Given the description of an element on the screen output the (x, y) to click on. 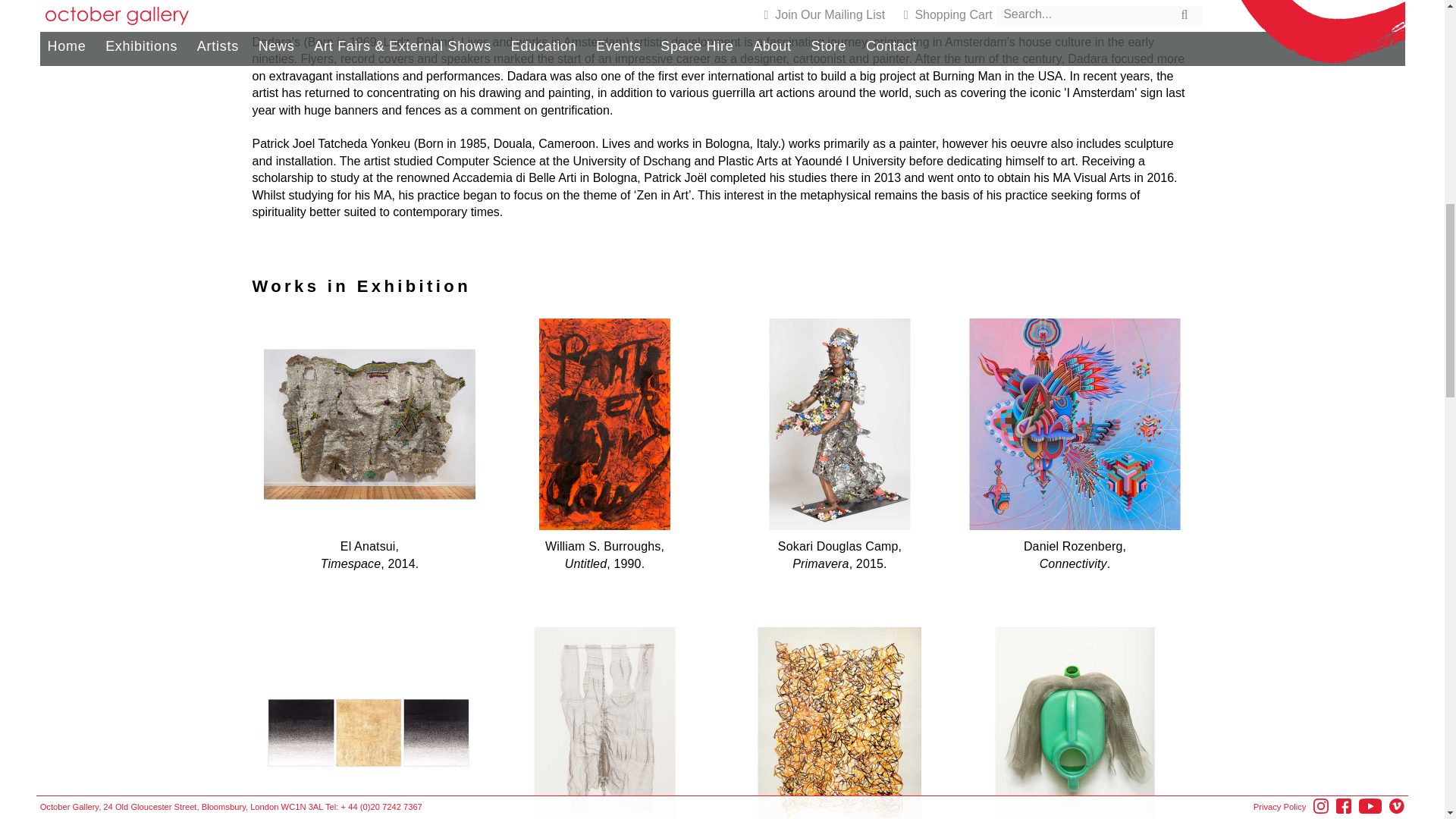
Vimeo (1397, 133)
youtube (1369, 135)
